Given the description of an element on the screen output the (x, y) to click on. 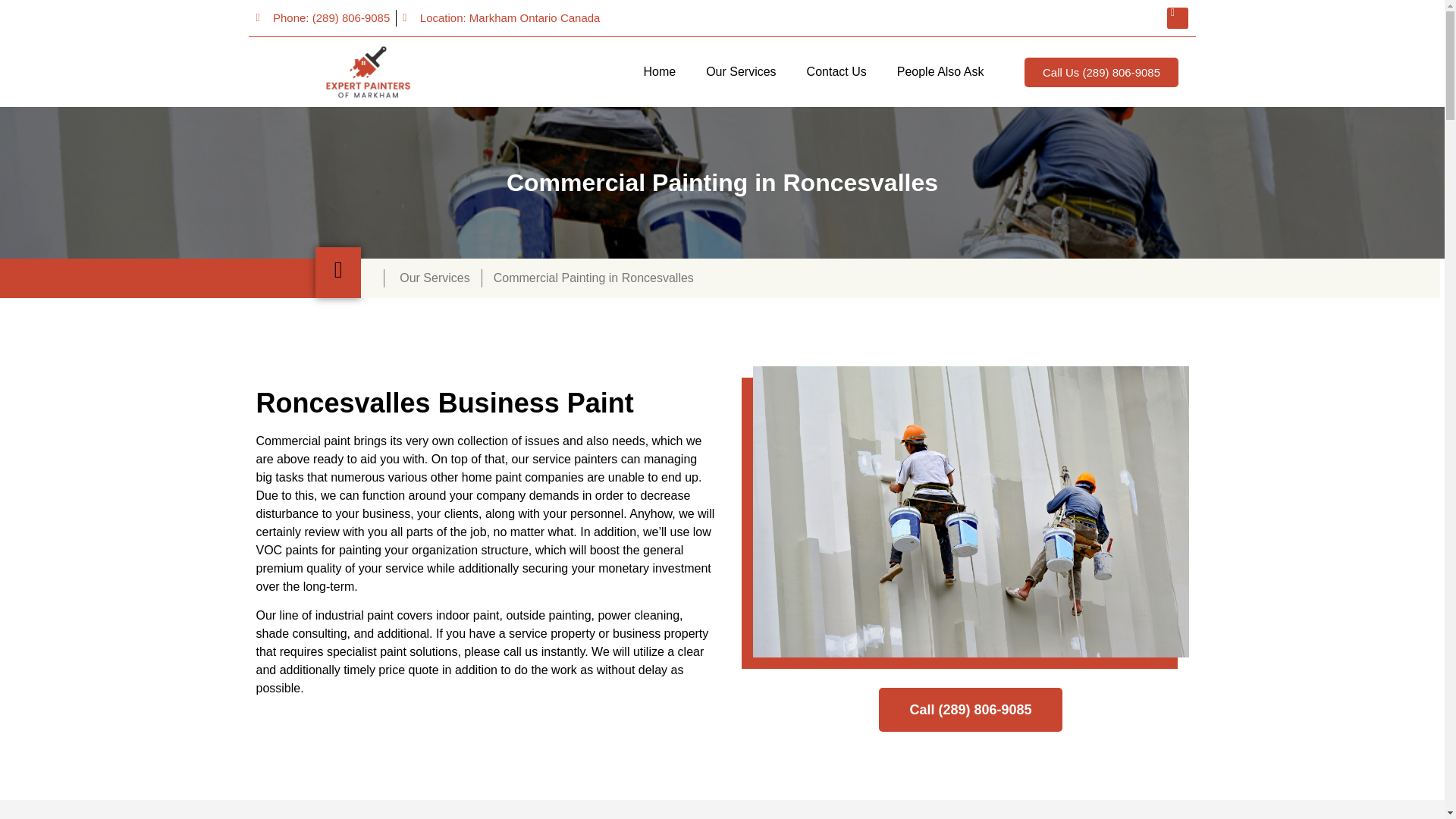
Our Services (740, 71)
Location: Markham Ontario Canada (501, 18)
Home (658, 71)
Contact Us (837, 71)
